Given the description of an element on the screen output the (x, y) to click on. 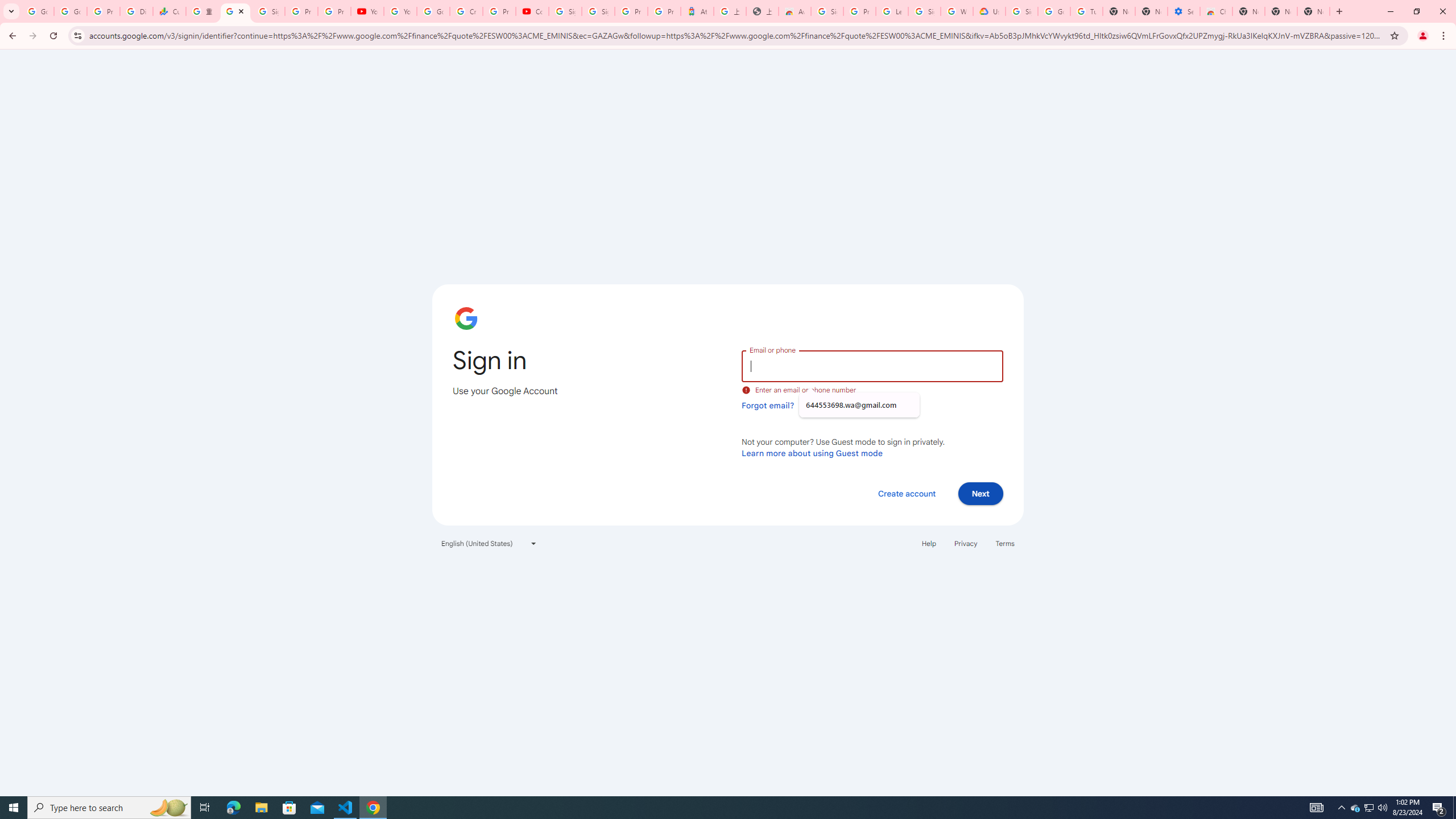
Turn cookies on or off - Computer - Google Account Help (1086, 11)
Settings - Accessibility (1183, 11)
YouTube (400, 11)
644553698.wa@gmail.com (858, 404)
Sign in - Google Accounts (827, 11)
